Given the description of an element on the screen output the (x, y) to click on. 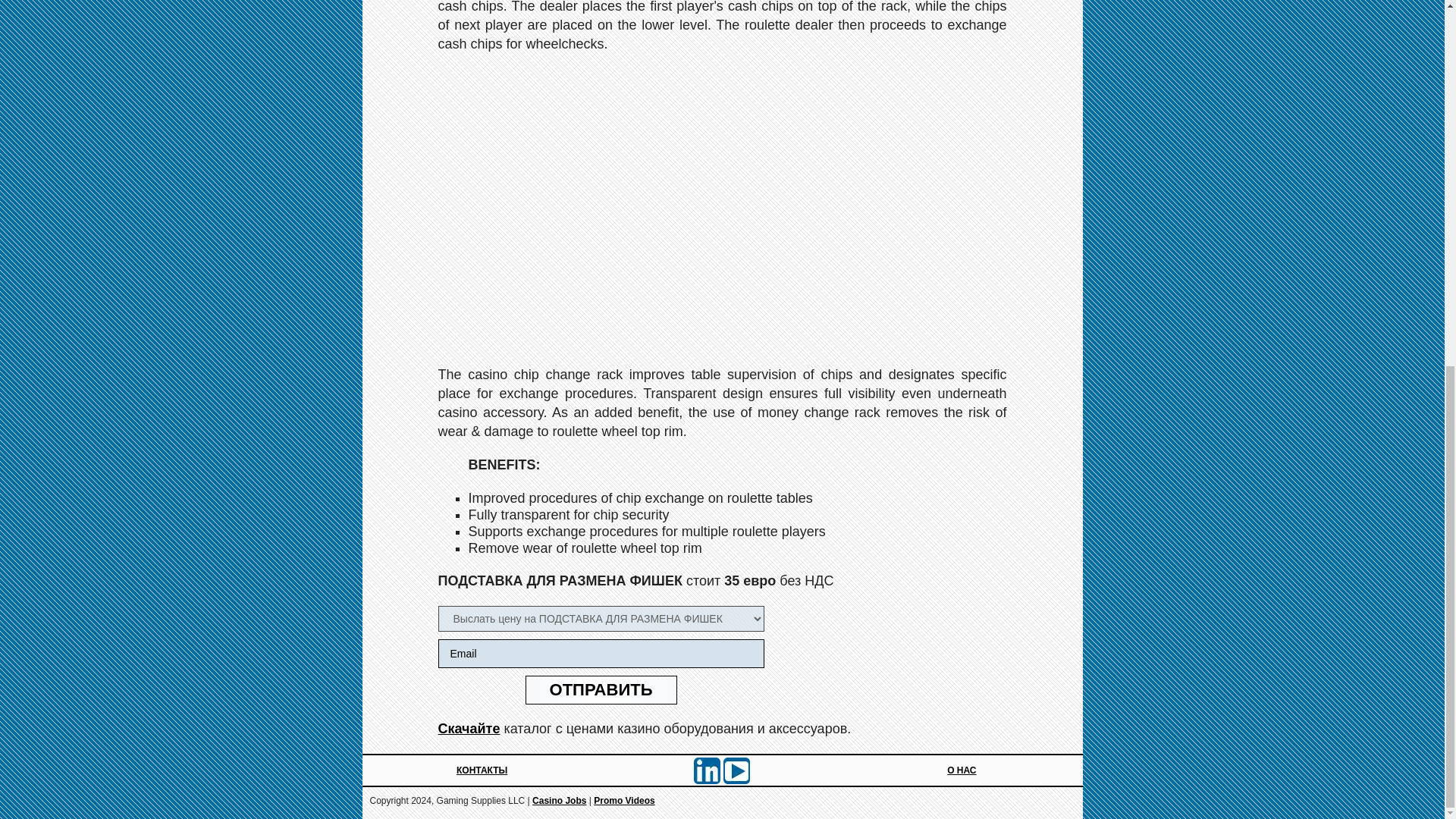
Promo Videos (623, 800)
Casino Jobs (559, 800)
